Given the description of an element on the screen output the (x, y) to click on. 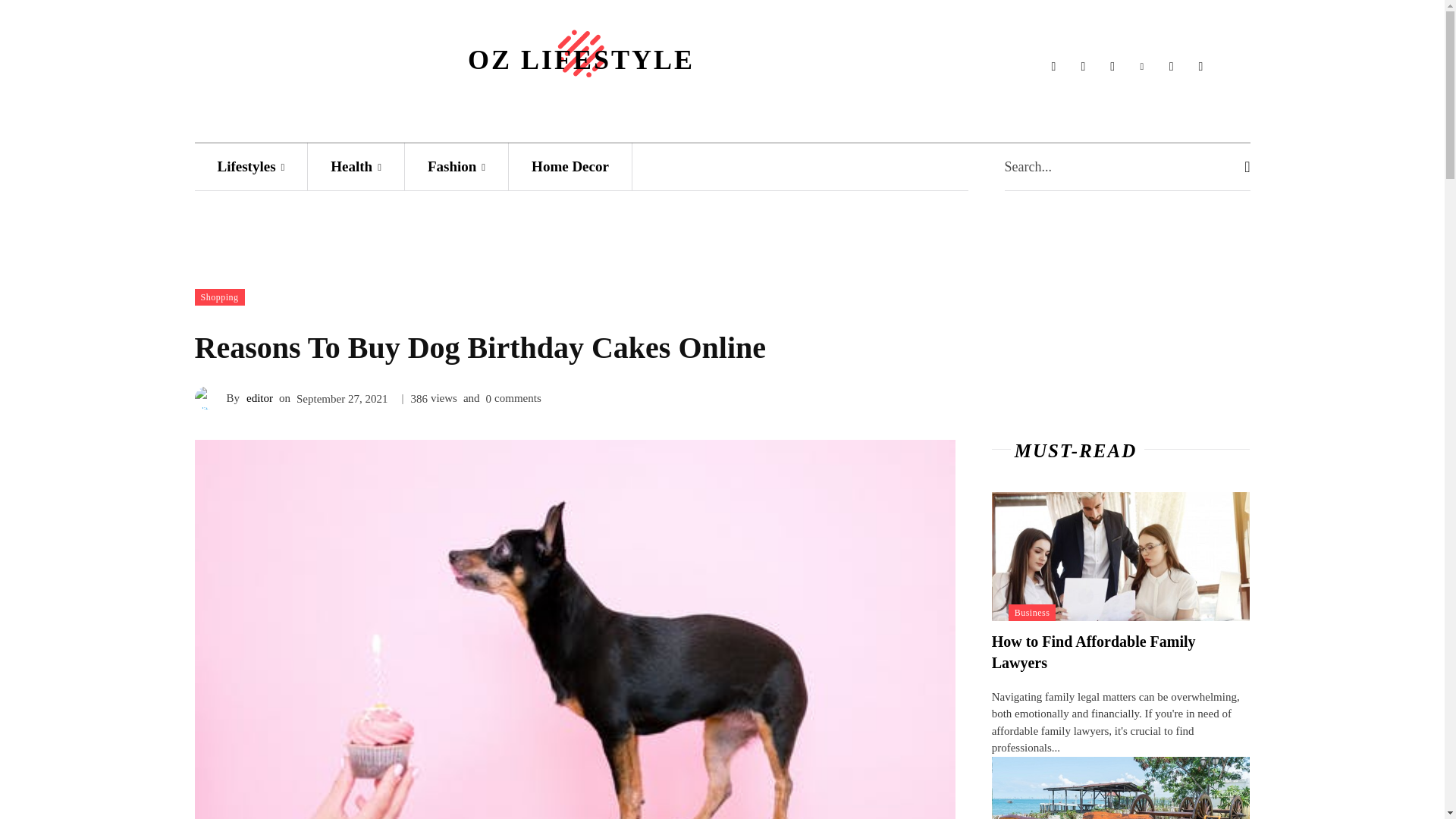
Home Decor (569, 166)
OZ LIFESTYLE (580, 49)
RSS (1171, 66)
Shopping (218, 297)
Fashion (456, 166)
editor (259, 398)
editor (209, 397)
Lifestyles (250, 166)
Twitter (1200, 66)
